Given the description of an element on the screen output the (x, y) to click on. 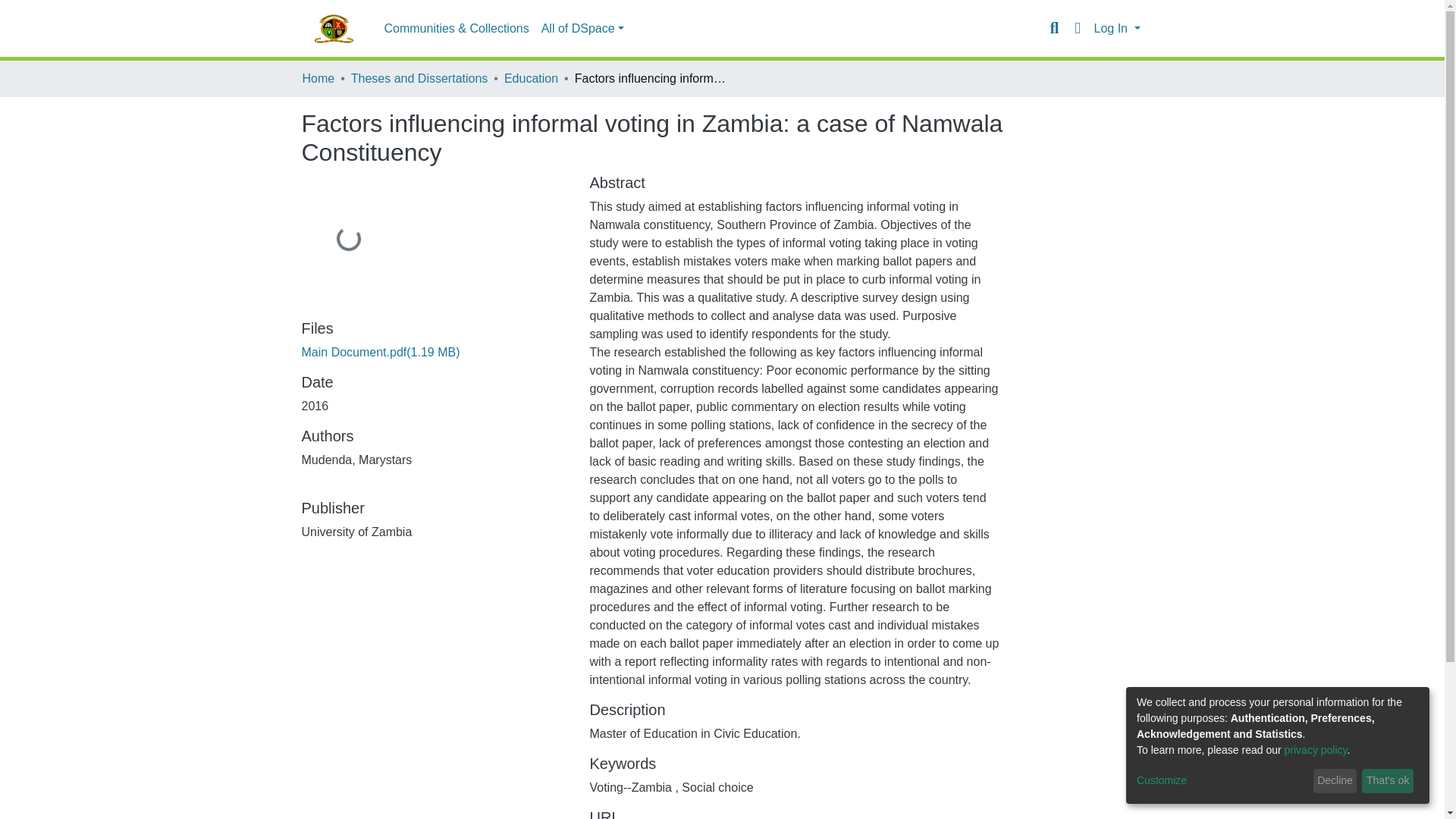
Decline (1334, 781)
That's ok (1387, 781)
Education (530, 78)
Theses and Dissertations (418, 78)
All of DSpace (582, 28)
Home (317, 78)
Customize (1222, 780)
Language switch (1077, 28)
Search (1053, 28)
Log In (1116, 28)
privacy policy (1316, 749)
